Given the description of an element on the screen output the (x, y) to click on. 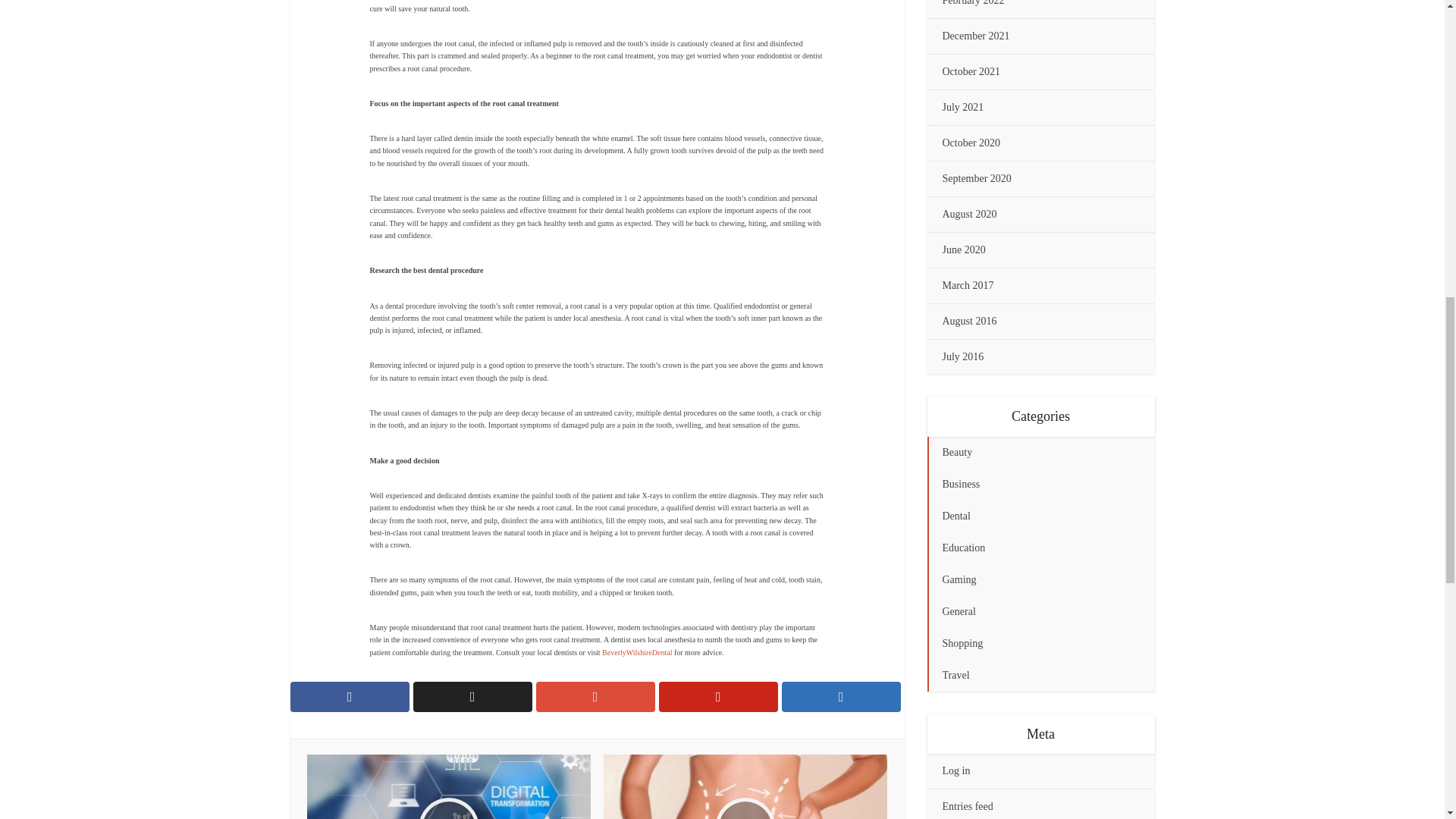
October 2021 (971, 71)
August 2020 (968, 214)
BeverlyWilshireDental (636, 652)
October 2020 (971, 142)
What are the benefits of Tummy Tuck? (745, 786)
December 2021 (975, 35)
September 2020 (976, 178)
July 2021 (963, 107)
Why Digital Transformation Is Important? (449, 786)
February 2022 (973, 2)
